Given the description of an element on the screen output the (x, y) to click on. 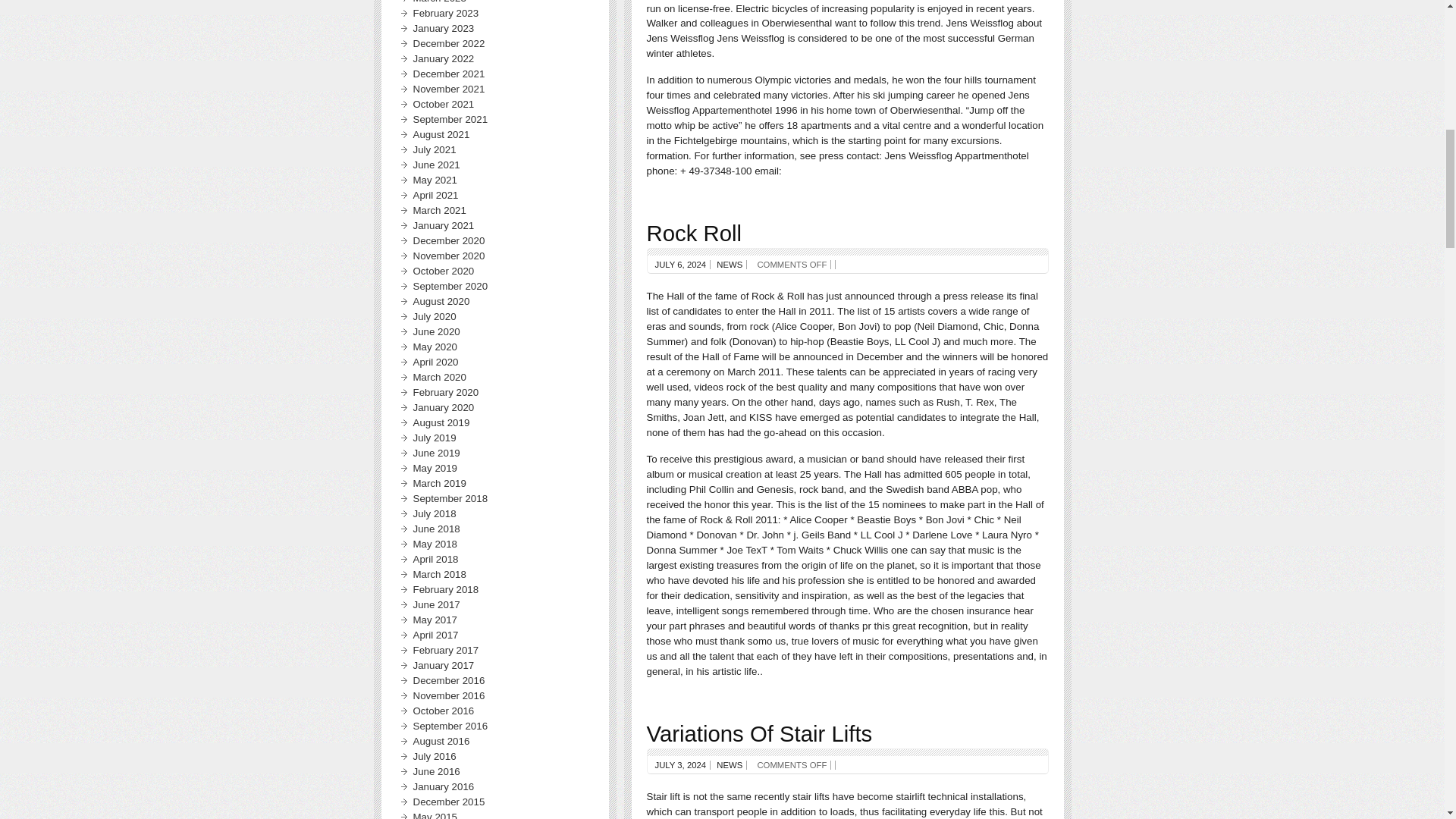
Variations Of Stair Lifts (759, 733)
JULY 3, 2024 (680, 764)
NEWS (729, 764)
NEWS (729, 264)
JULY 6, 2024 (680, 264)
Rock Roll (693, 232)
